Given the description of an element on the screen output the (x, y) to click on. 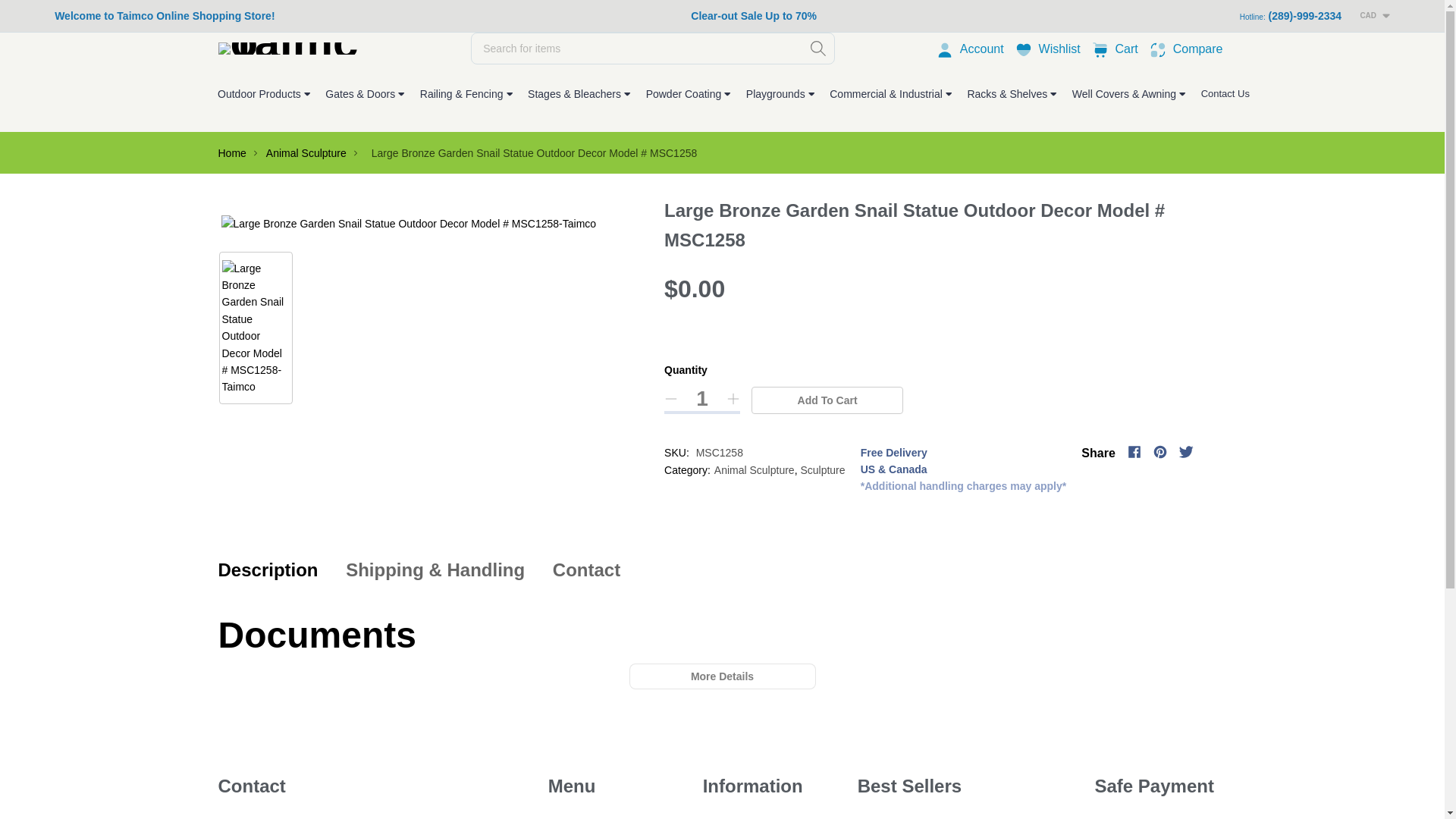
US (1316, 58)
CA (1317, 38)
Wishlist (1102, 49)
Cart (1059, 49)
1 (1126, 49)
Account (702, 398)
ready-to-ship-products (981, 49)
Compare (753, 17)
  CAD (1198, 49)
